Given the description of an element on the screen output the (x, y) to click on. 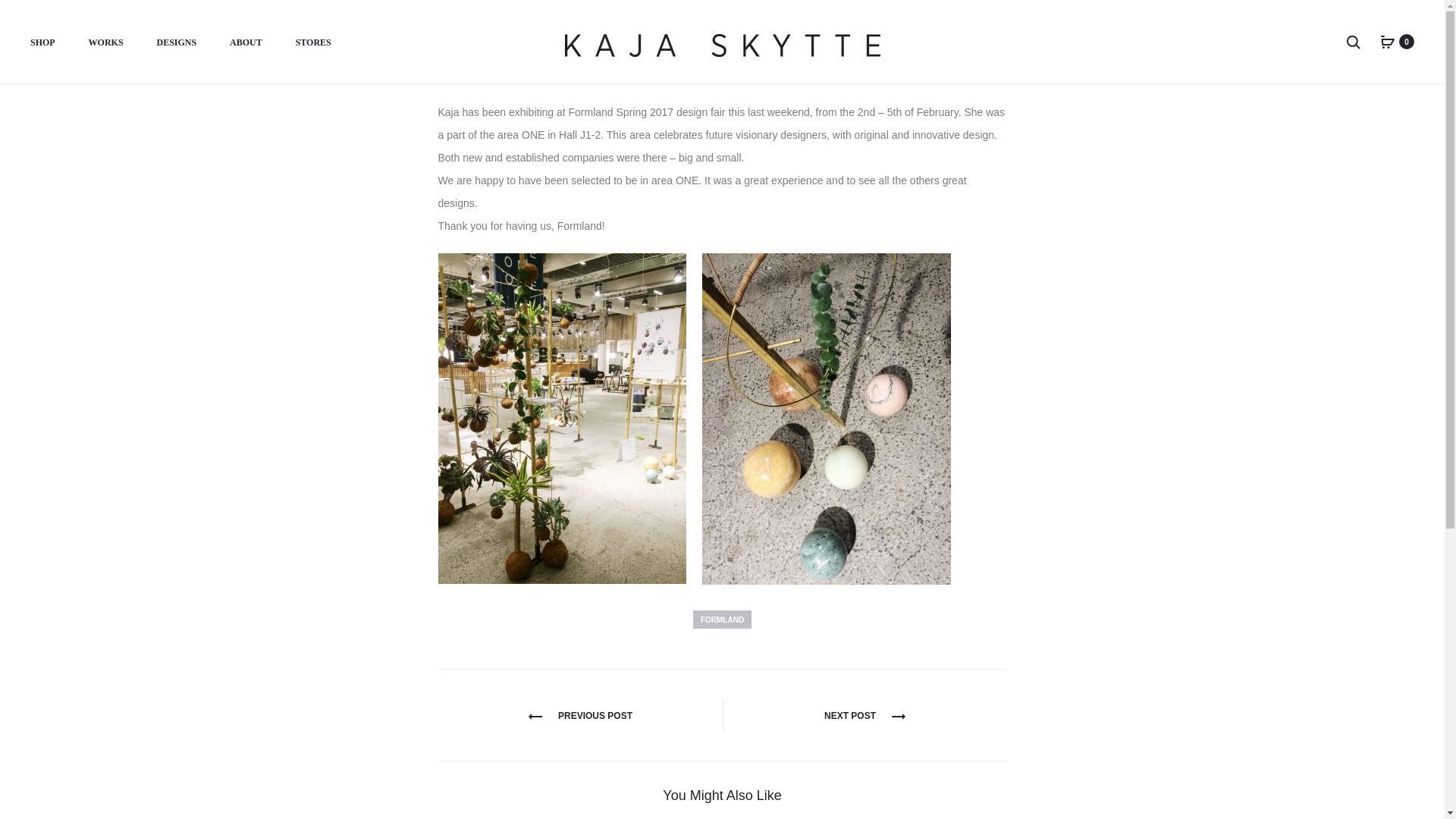
SHOP (42, 43)
ABOUT (246, 43)
FORMLAND (722, 619)
DESIGNS (175, 43)
0 (1387, 41)
PREVIOUS POST (579, 715)
STORES (313, 43)
NEXT POST (864, 715)
WORKS (105, 43)
Search (1353, 41)
